Given the description of an element on the screen output the (x, y) to click on. 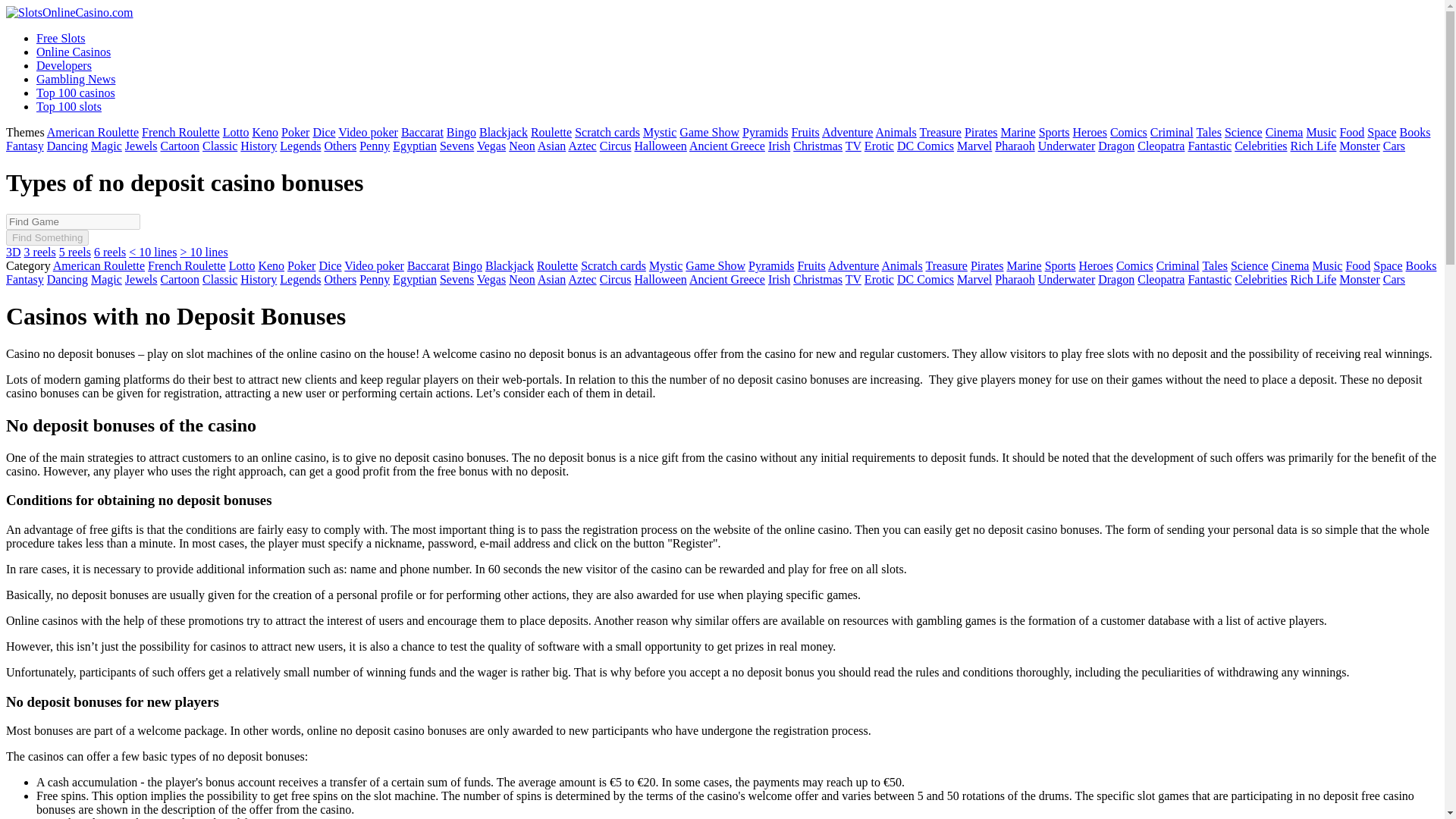
Sports (1054, 132)
Lotto (235, 132)
Gambling News (75, 78)
Fruits (804, 132)
Poker (294, 132)
Roulette (551, 132)
Keno lottery game (264, 132)
Criminal (1171, 132)
Dice games (323, 132)
Tales (1208, 132)
Video poker (367, 132)
Free Slots (60, 38)
Game Show (709, 132)
Treasure (939, 132)
Variations of Baccarat slots and the cost of cards (422, 132)
